Given the description of an element on the screen output the (x, y) to click on. 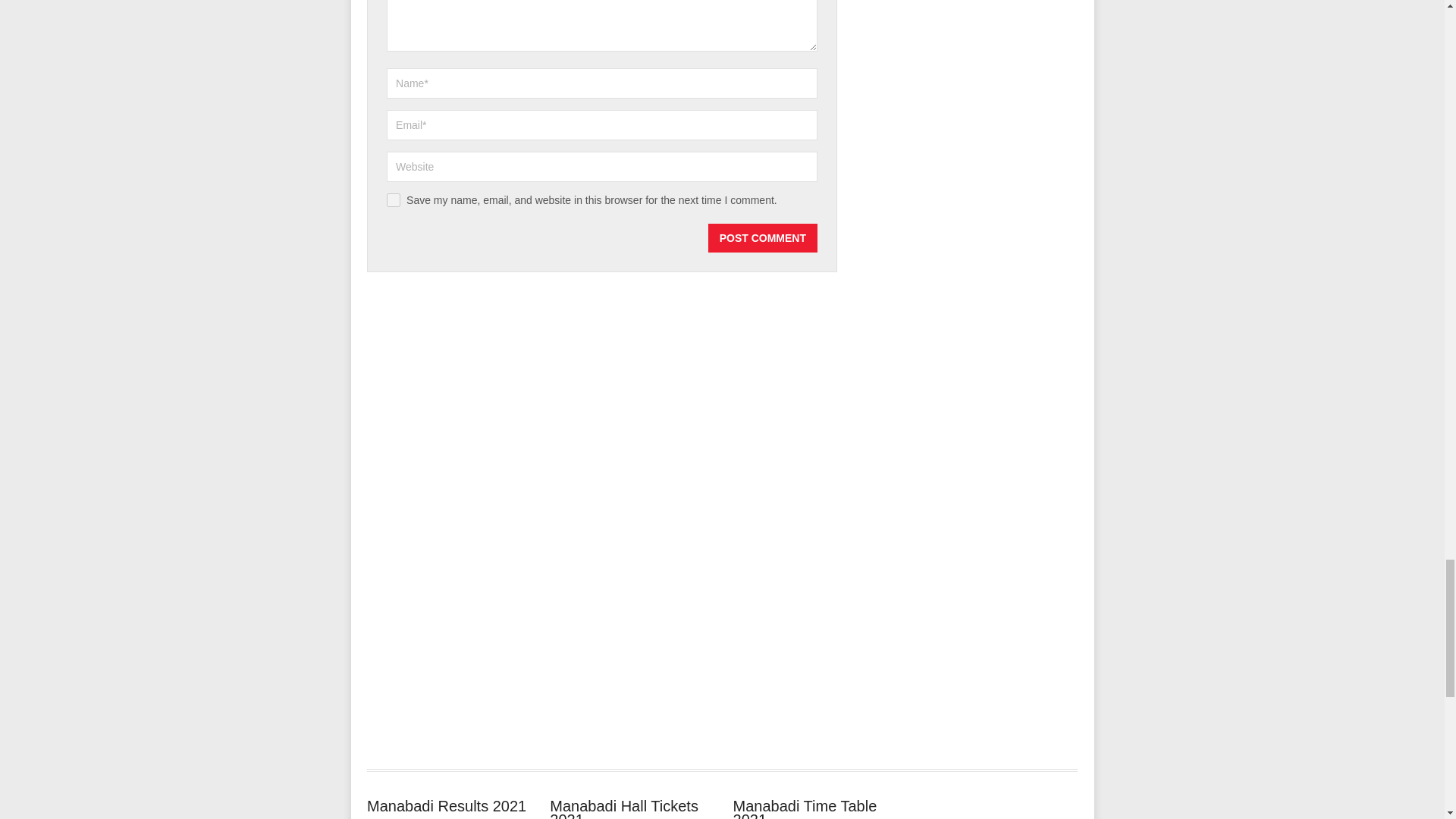
Post Comment (761, 237)
yes (393, 200)
Post Comment (761, 237)
